Given the description of an element on the screen output the (x, y) to click on. 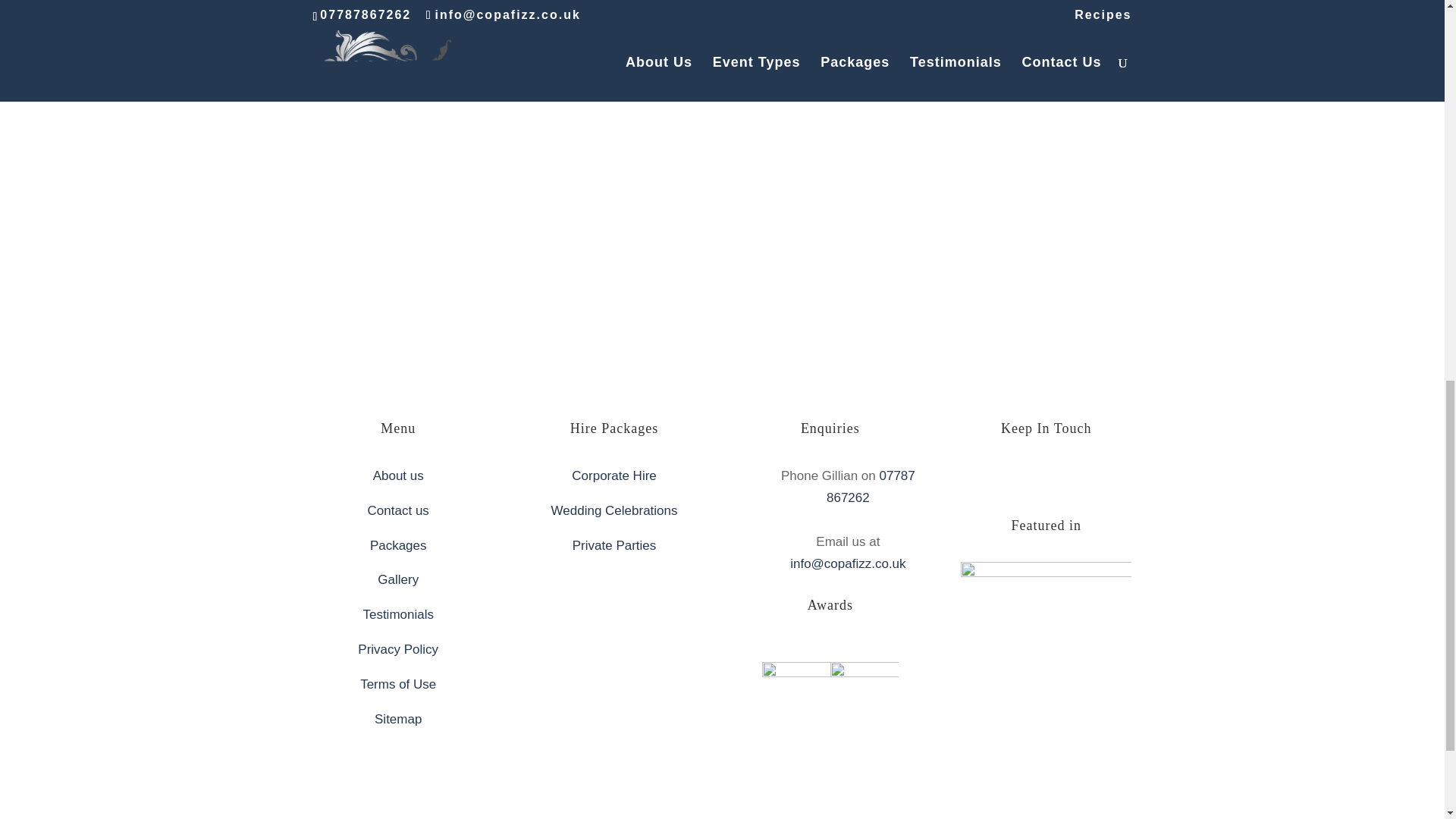
Private Parties (614, 545)
About us (397, 475)
Privacy Policy (398, 649)
Testimonials (397, 614)
Corporate Hire (614, 475)
Wedding Celebrations (614, 510)
07787 867262 (871, 486)
Terms of Use (397, 684)
Gallery (398, 579)
Sitemap (398, 718)
